Given the description of an element on the screen output the (x, y) to click on. 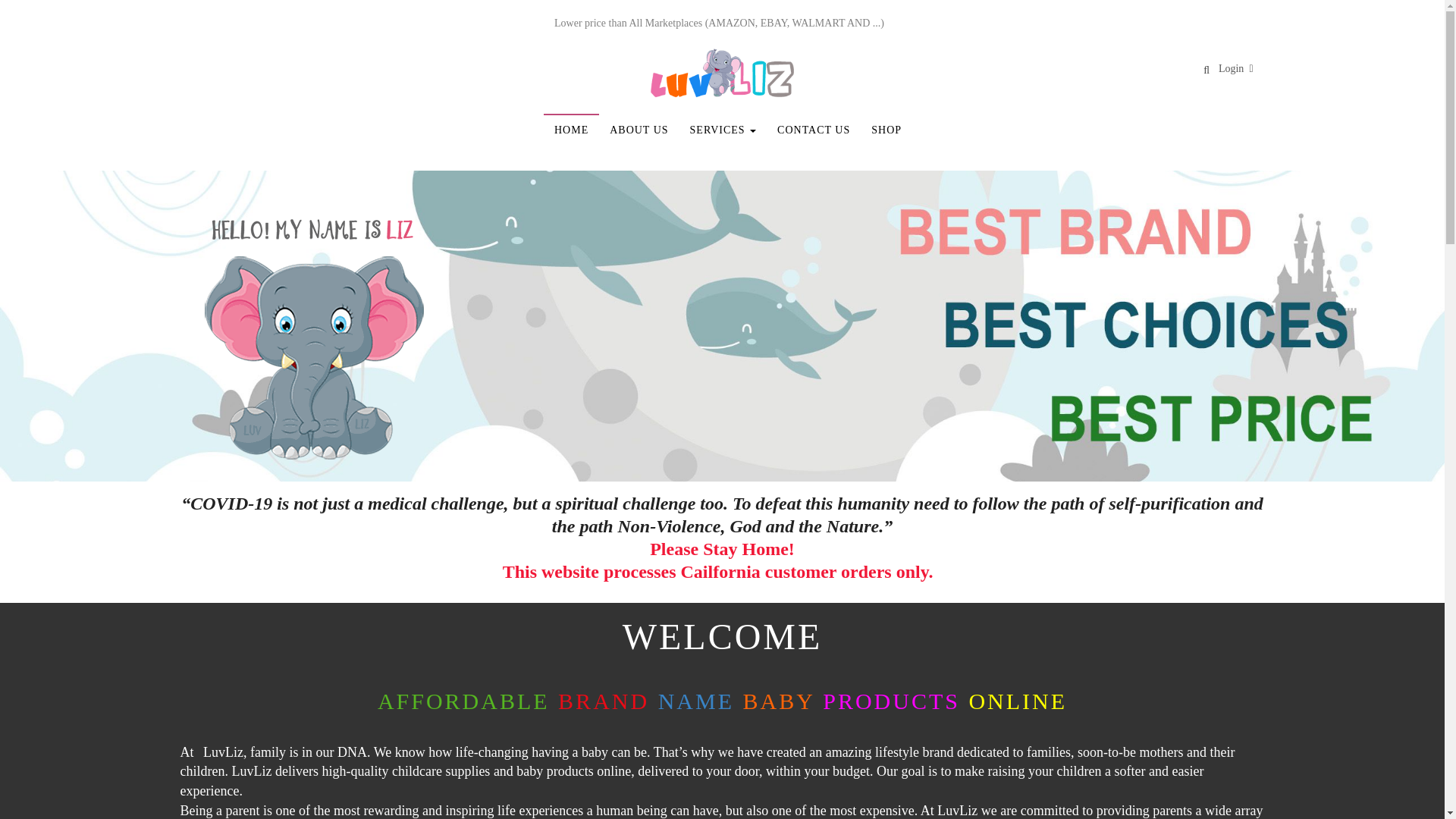
SHOP (886, 130)
CONTACT US (813, 130)
ABOUT US (638, 130)
LuvLiz.com (721, 72)
SERVICES (723, 130)
HOME (570, 130)
Login (1230, 68)
